Given the description of an element on the screen output the (x, y) to click on. 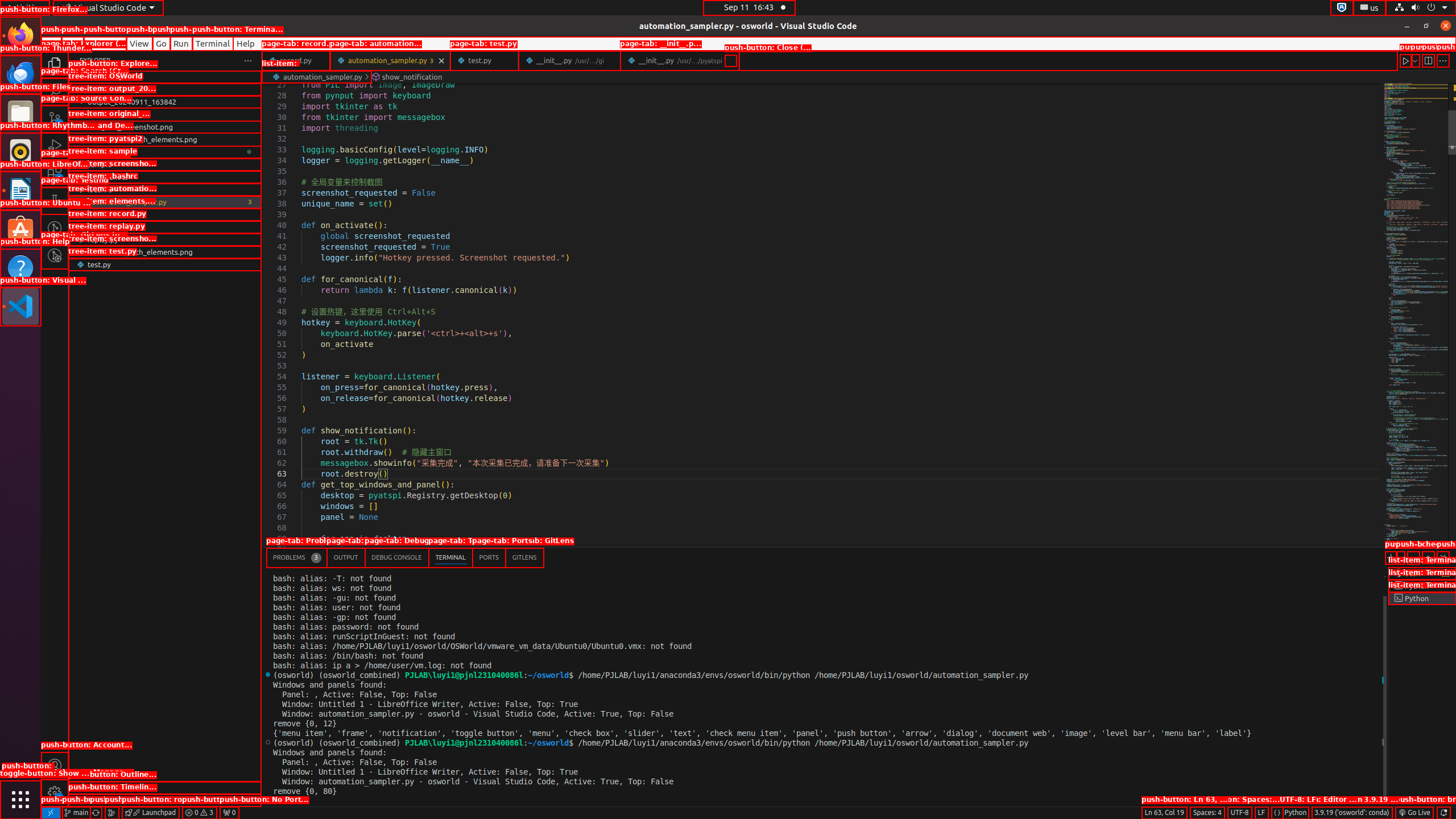
Debug Console (Ctrl+Shift+Y) Element type: page-tab (396, 557)
Terminal 1 bash Element type: list-item (1422, 573)
Extensions (Ctrl+Shift+X) - 2 require update Element type: page-tab (54, 173)
More Actions... Element type: push-button (1442, 60)
